Given the description of an element on the screen output the (x, y) to click on. 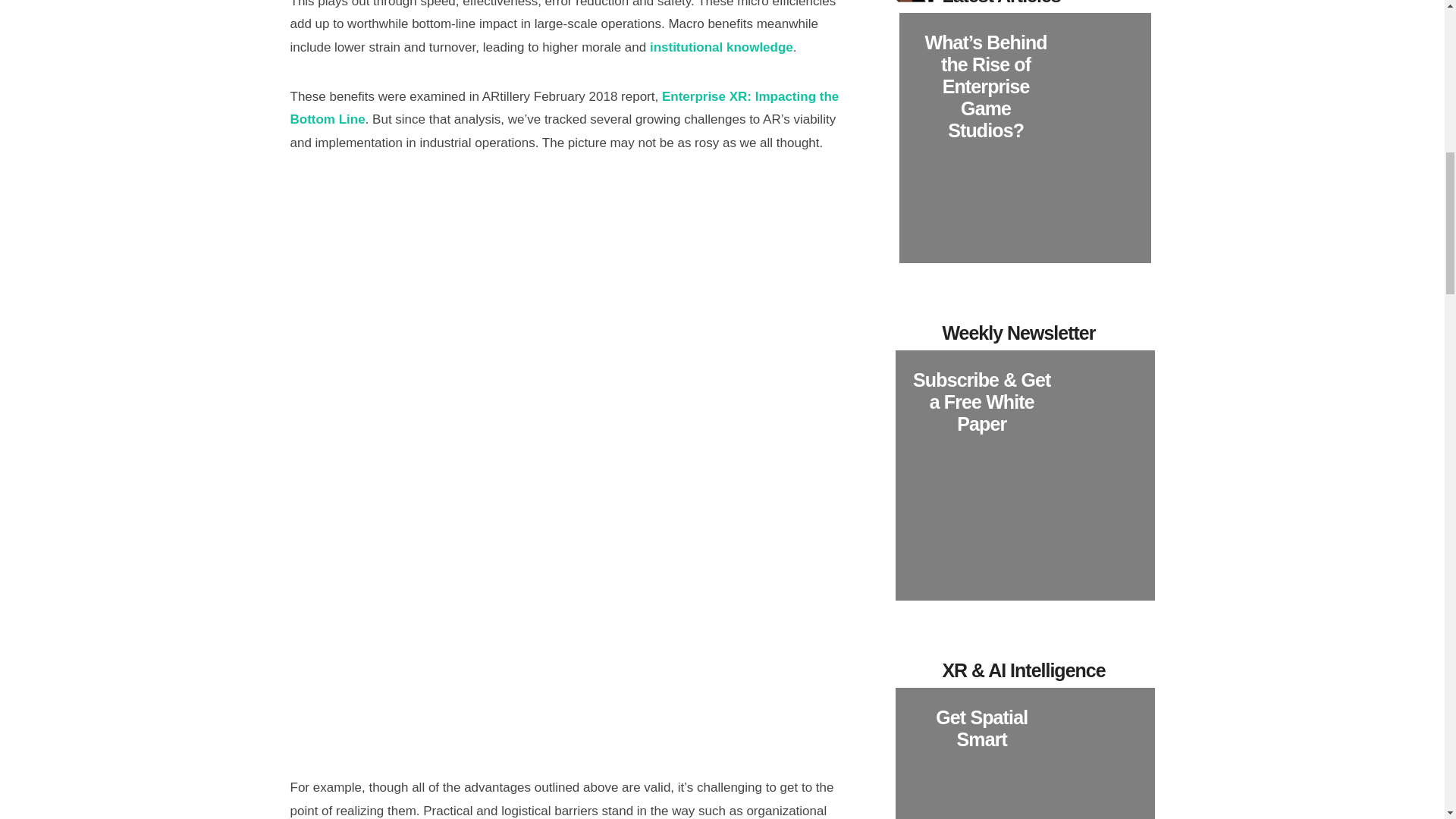
institutional knowledge (721, 47)
Enterprise XR: Impacting the Bottom Line (563, 108)
